Given the description of an element on the screen output the (x, y) to click on. 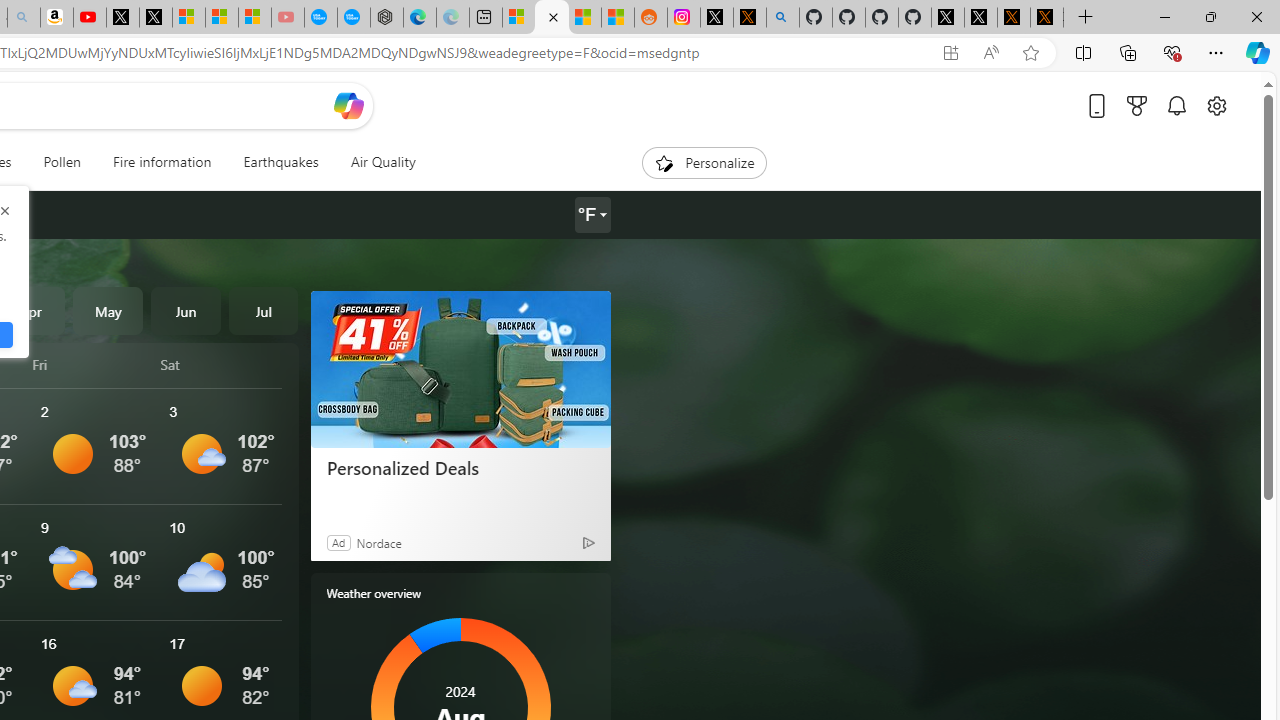
Personalize (703, 162)
See More Details (221, 561)
X Privacy Policy (1046, 17)
Day 1: Arriving in Yemen (surreal to be here) - YouTube (90, 17)
